Given the description of an element on the screen output the (x, y) to click on. 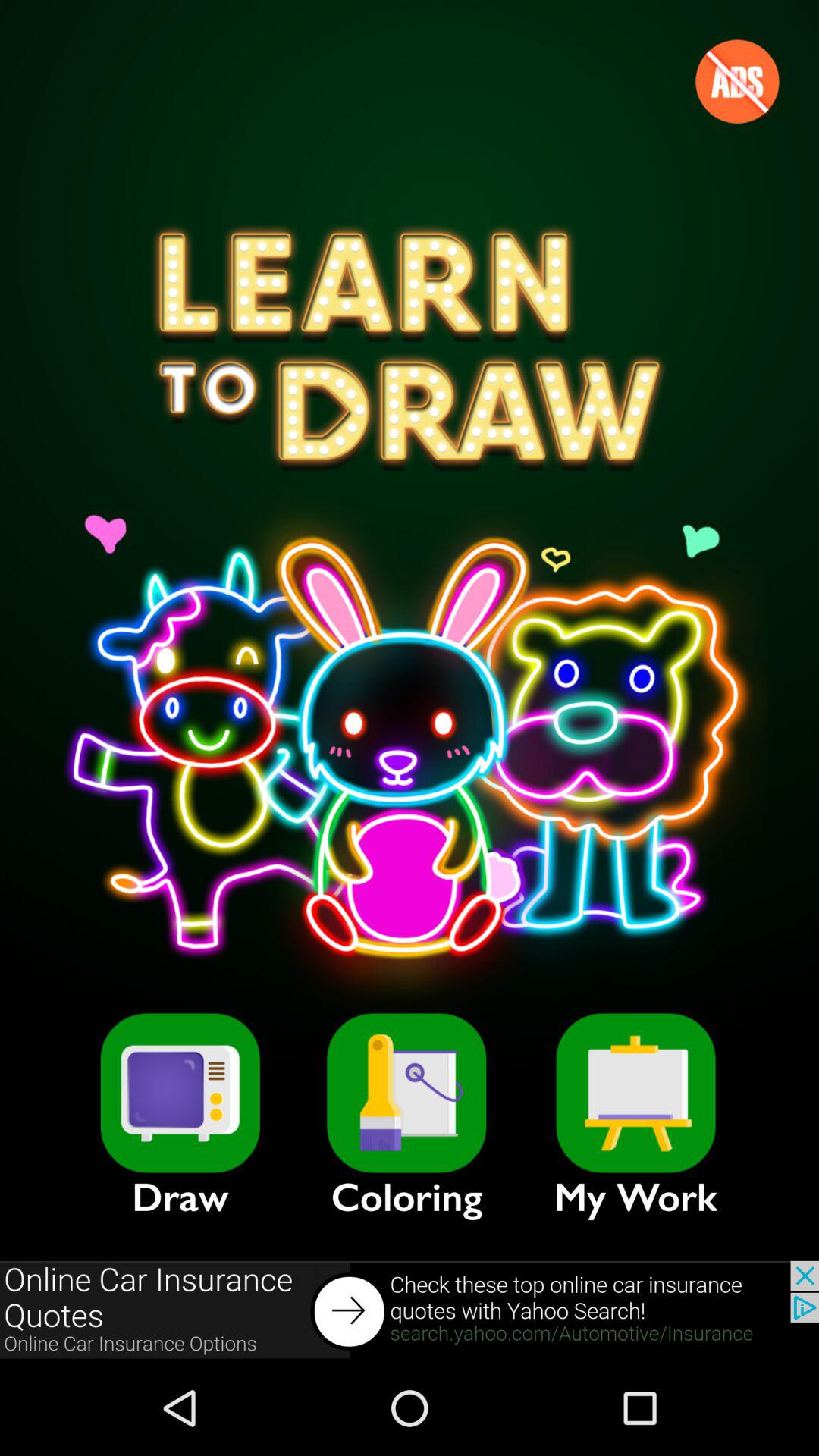
no advertisement (737, 81)
